Given the description of an element on the screen output the (x, y) to click on. 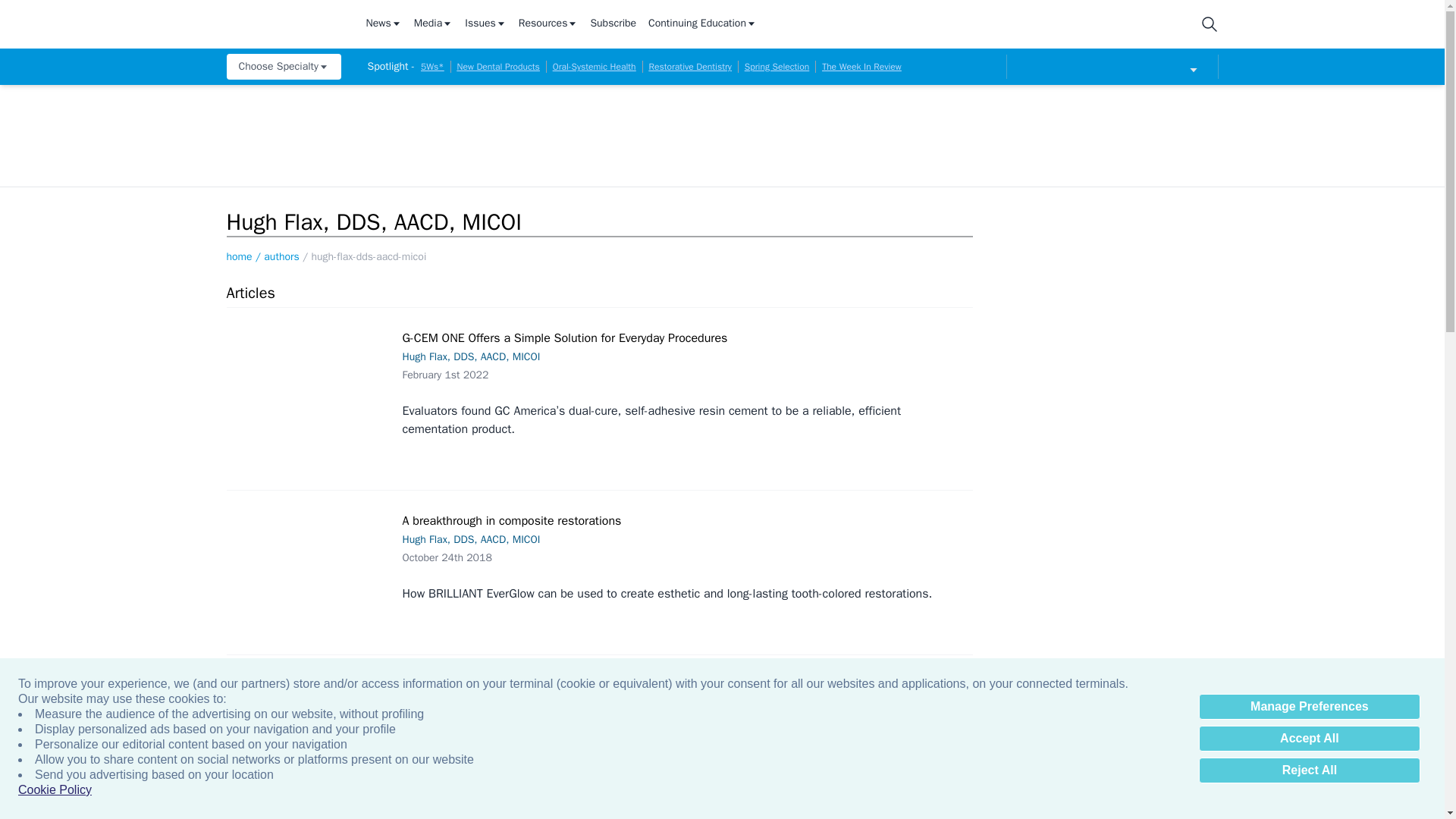
News (383, 23)
Reject All (1309, 769)
G-CEM ONE being placed in the restoration. (311, 383)
Resources (548, 23)
Media (432, 23)
Accept All (1309, 738)
Manage Preferences (1309, 706)
A breakthrough in composite restorations (311, 560)
Subscribe (612, 23)
Continuing Education (702, 23)
